Given the description of an element on the screen output the (x, y) to click on. 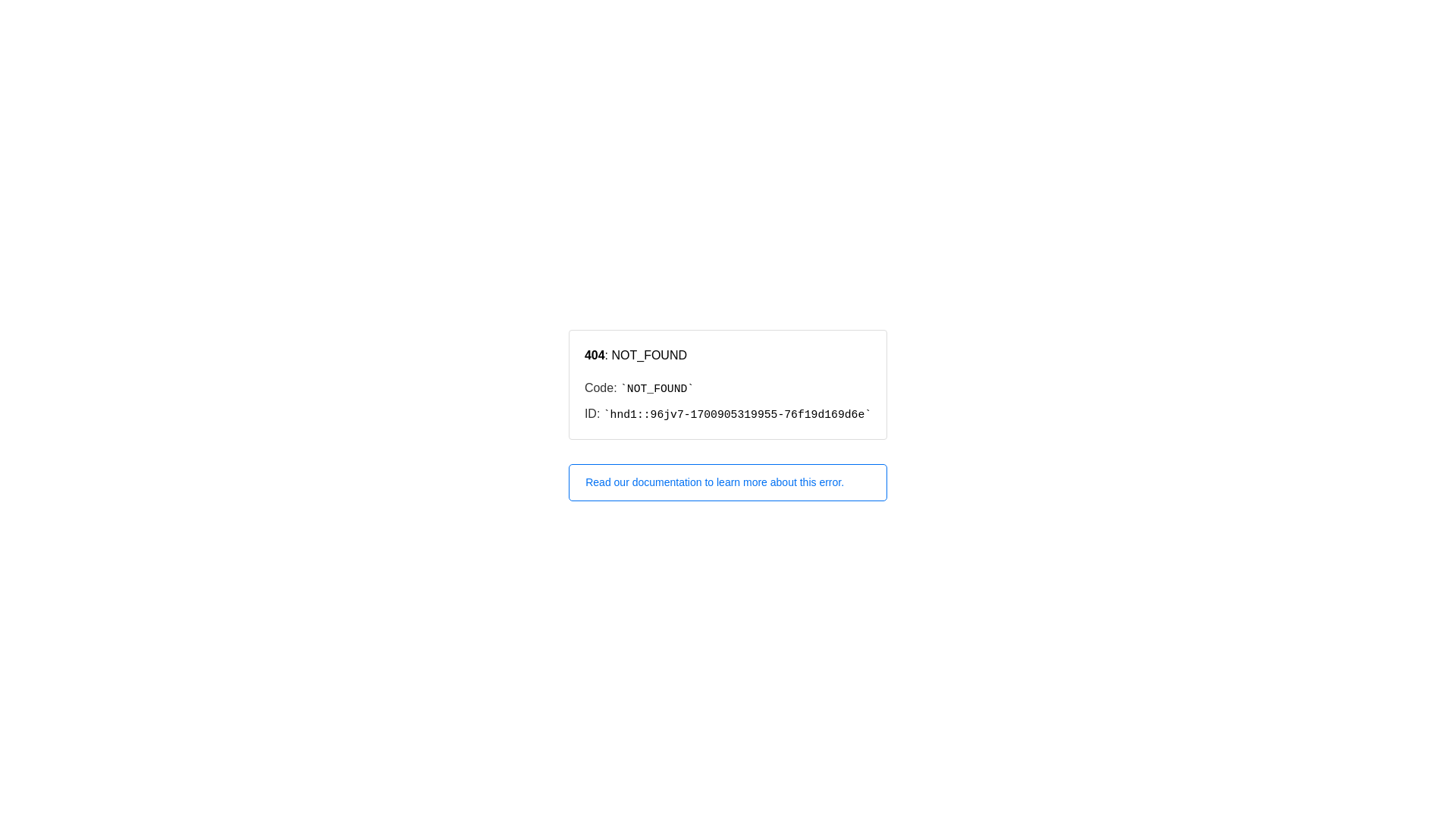
Read our documentation to learn more about this error. Element type: text (727, 482)
